Given the description of an element on the screen output the (x, y) to click on. 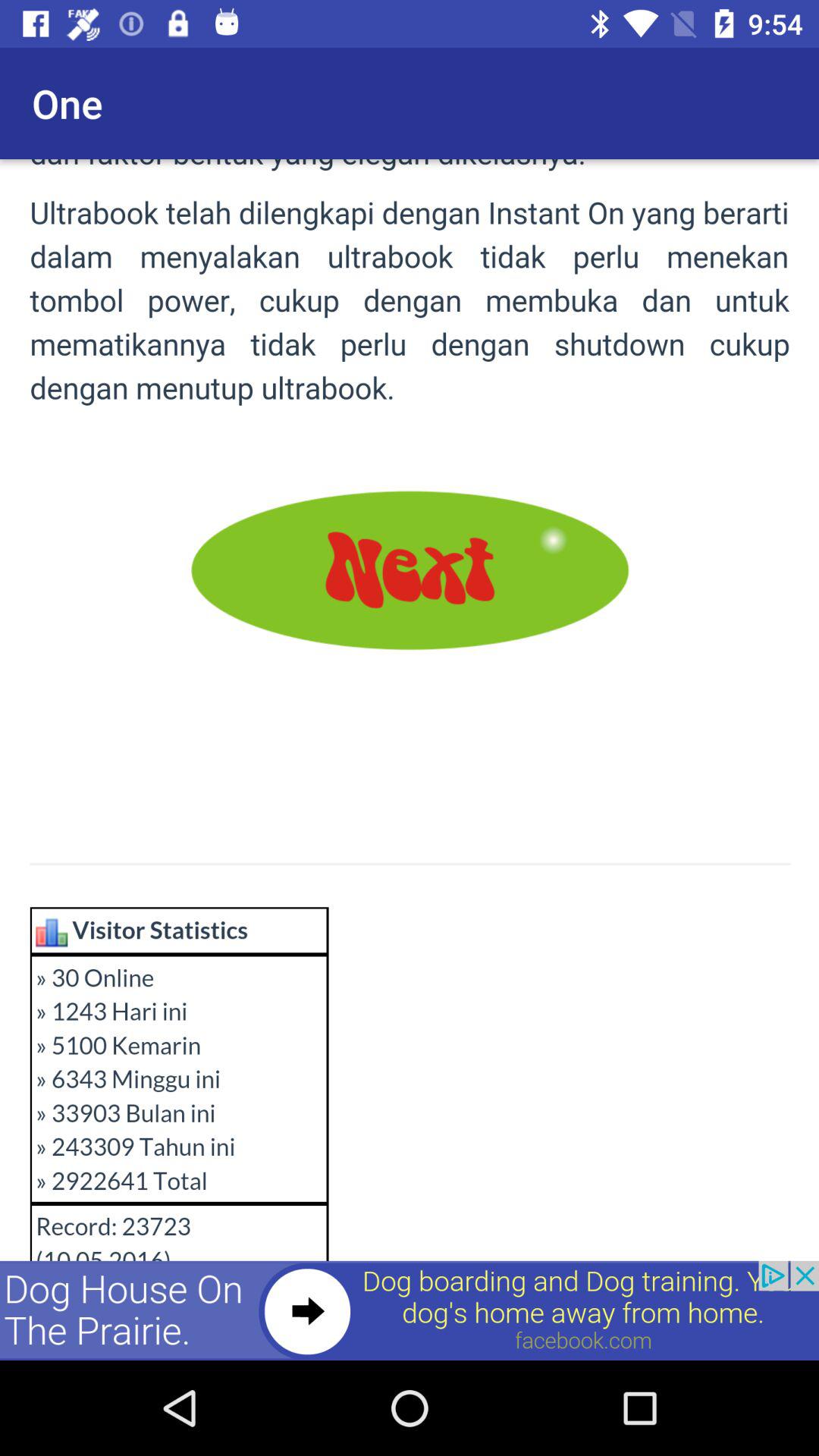
advertisement (409, 1310)
